Given the description of an element on the screen output the (x, y) to click on. 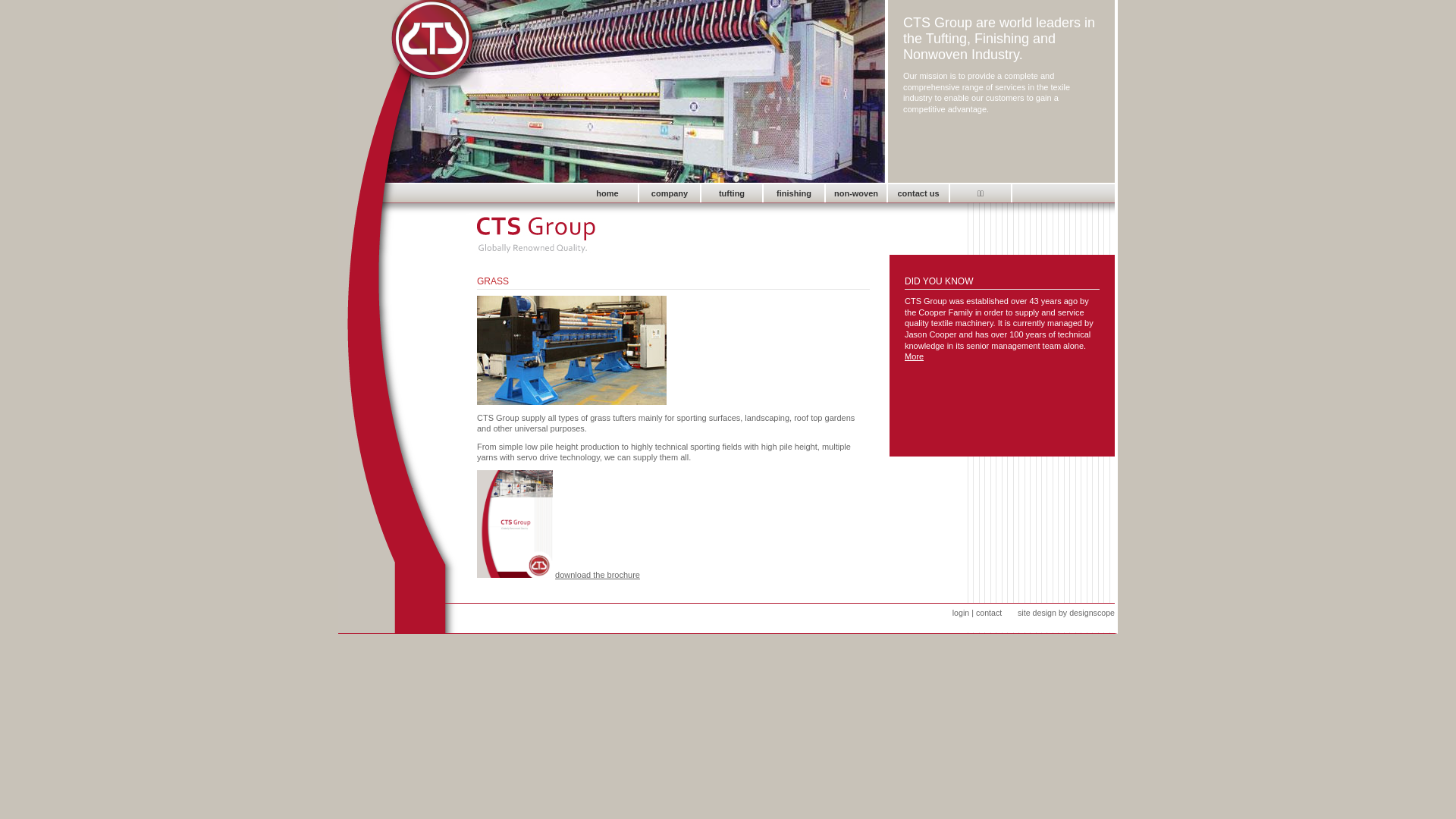
company Element type: text (669, 193)
login Element type: text (960, 612)
contact us Element type: text (918, 193)
non-woven Element type: text (855, 193)
tufting Element type: text (731, 193)
finishing Element type: text (793, 193)
site design by designscope Element type: text (1065, 612)
home Element type: text (607, 193)
download the brochure Element type: text (597, 574)
contact Element type: text (988, 612)
More Element type: text (913, 355)
